Given the description of an element on the screen output the (x, y) to click on. 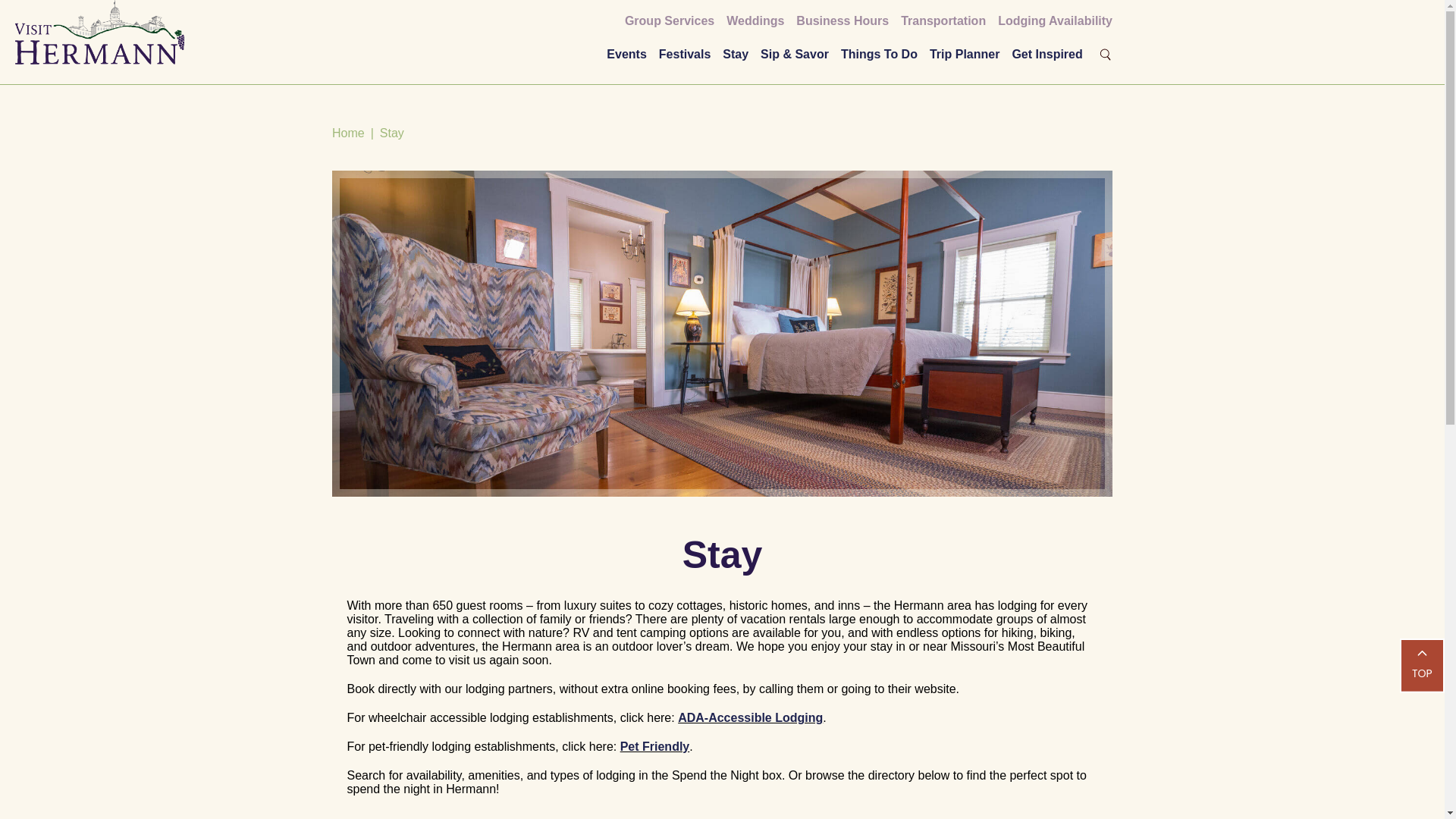
Stay (735, 53)
Festivals (684, 53)
Events (626, 53)
Get Inspired (1046, 53)
Lodging Availability (1054, 20)
Weddings (755, 20)
Trip Planner (964, 53)
Home (348, 132)
ADA-Accessible Lodging (750, 717)
Pet Friendly (655, 746)
Group Services (669, 20)
Transportation (943, 20)
Business Hours (842, 20)
Things To Do (879, 53)
